Given the description of an element on the screen output the (x, y) to click on. 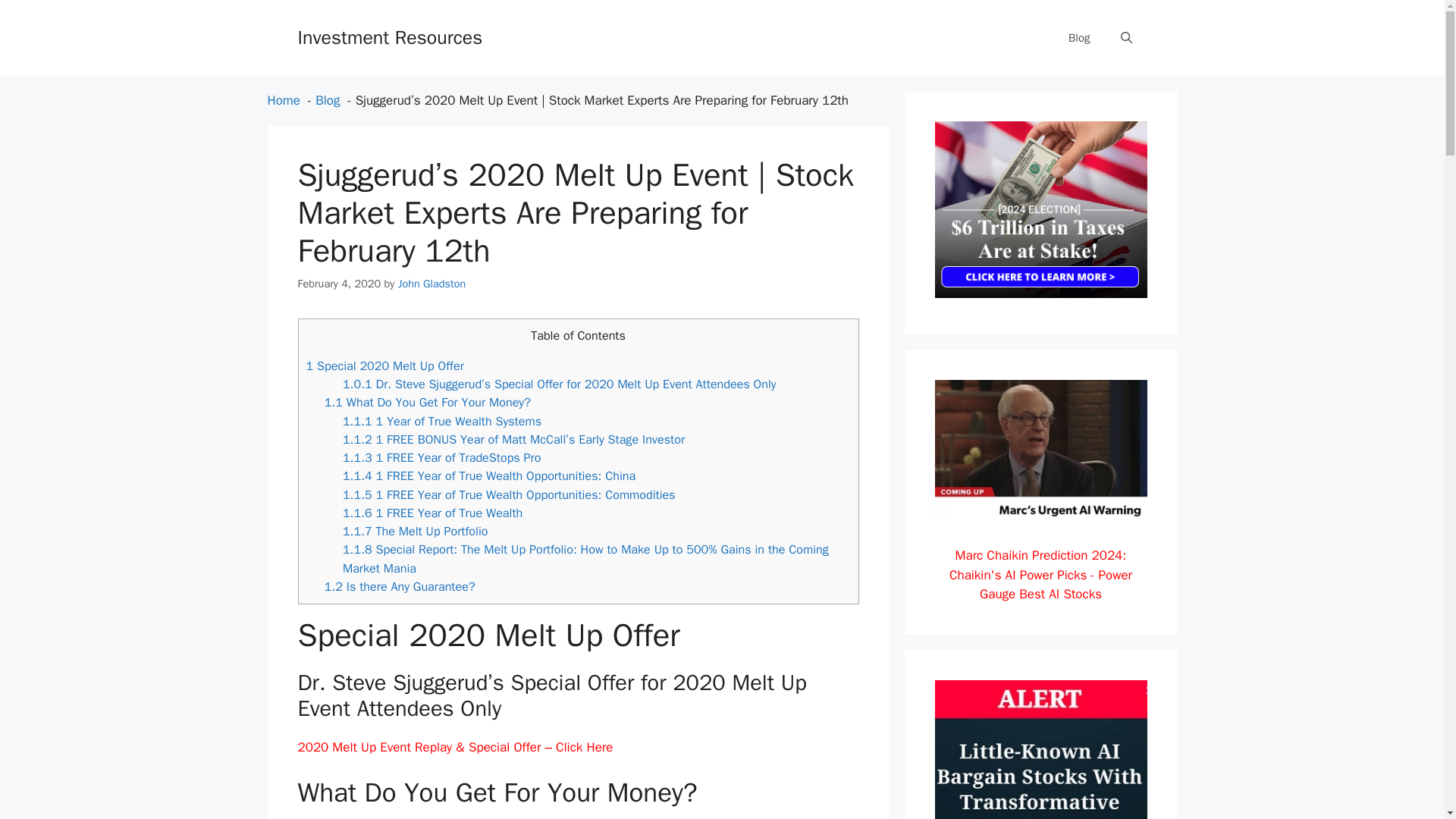
1.1 What Do You Get For Your Money? (427, 401)
1.1.4 1 FREE Year of True Wealth Opportunities: China (488, 475)
John Gladston (431, 283)
1.1.1 1 Year of True Wealth Systems (441, 421)
View all posts by John Gladston (431, 283)
1.2 Is there Any Guarantee? (400, 586)
1 Special 2020 Melt Up Offer (384, 365)
Investment Resources (389, 37)
1.1.7 The Melt Up Portfolio (414, 530)
Home (282, 100)
1.1.5 1 FREE Year of True Wealth Opportunities: Commodities (508, 494)
1.1.6 1 FREE Year of True Wealth (432, 512)
1.1.3 1 FREE Year of TradeStops Pro (441, 457)
